Given the description of an element on the screen output the (x, y) to click on. 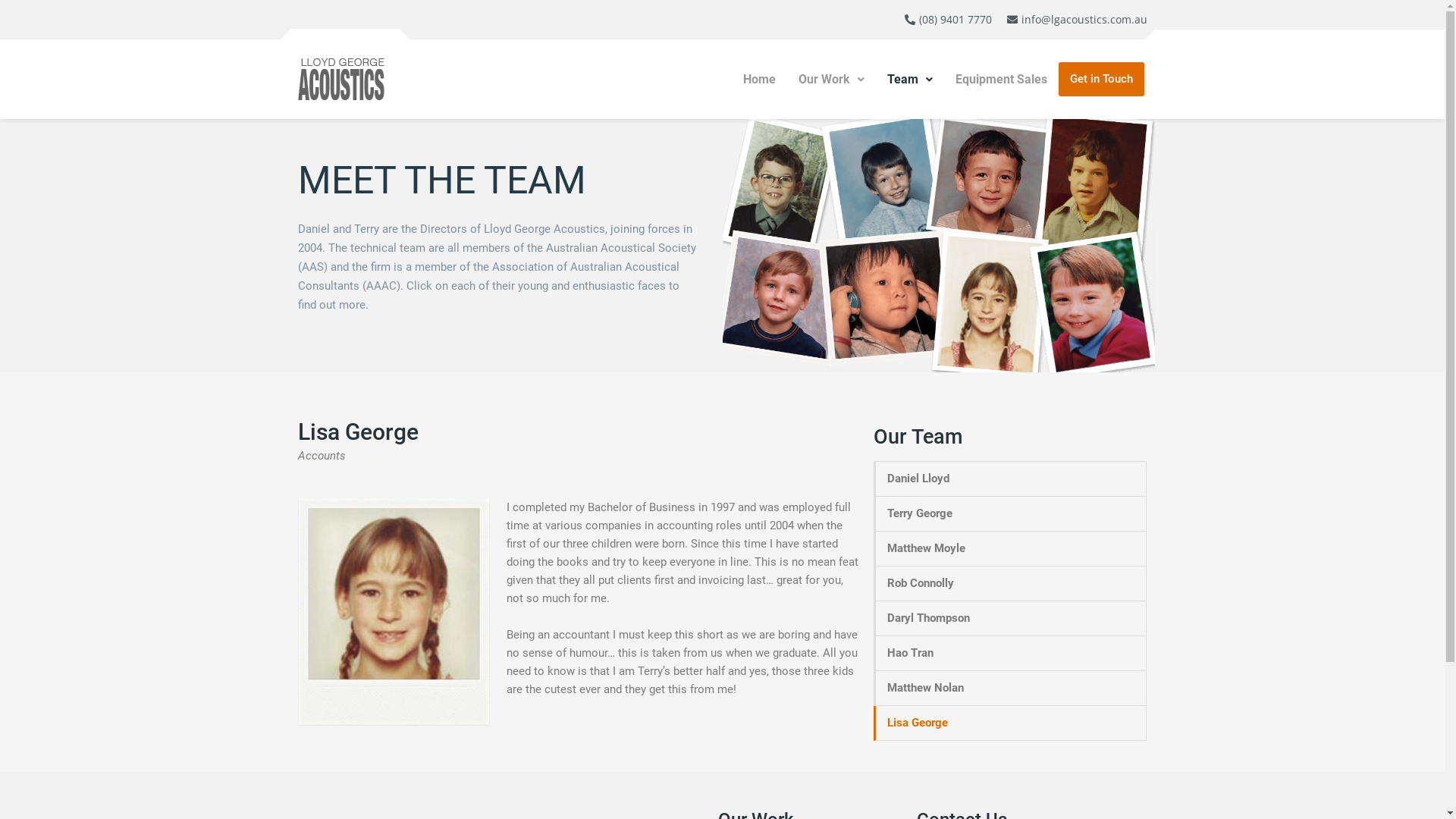
Terry George Element type: hover (870, 167)
Rob Connolly Element type: text (1010, 583)
Hao Tran Element type: hover (870, 281)
Get in Touch Element type: text (1101, 79)
Rob Connolly Element type: hover (1078, 167)
Daryl Thompson Element type: text (1010, 618)
Lisa George Element type: text (1010, 723)
Team Element type: text (909, 79)
Matthew Nolan Element type: hover (1078, 287)
Matthew Moyle Element type: text (1010, 548)
Our Work Element type: text (831, 79)
Daniel Lloyd Element type: hover (766, 167)
Terry George Element type: text (1010, 513)
Daniel Lloyd Element type: text (1010, 478)
(08) 9401 7770 Element type: text (947, 19)
Daryl Thompson Element type: hover (766, 281)
Home Element type: text (759, 79)
Matthew Nolan Element type: text (1010, 688)
Lisa George Element type: hover (974, 287)
Equipment Sales Element type: text (1001, 79)
Matthew Moyle Element type: hover (974, 162)
Hao Tran Element type: text (1010, 653)
info@lgacoustics.com.au Element type: text (1075, 19)
